Given the description of an element on the screen output the (x, y) to click on. 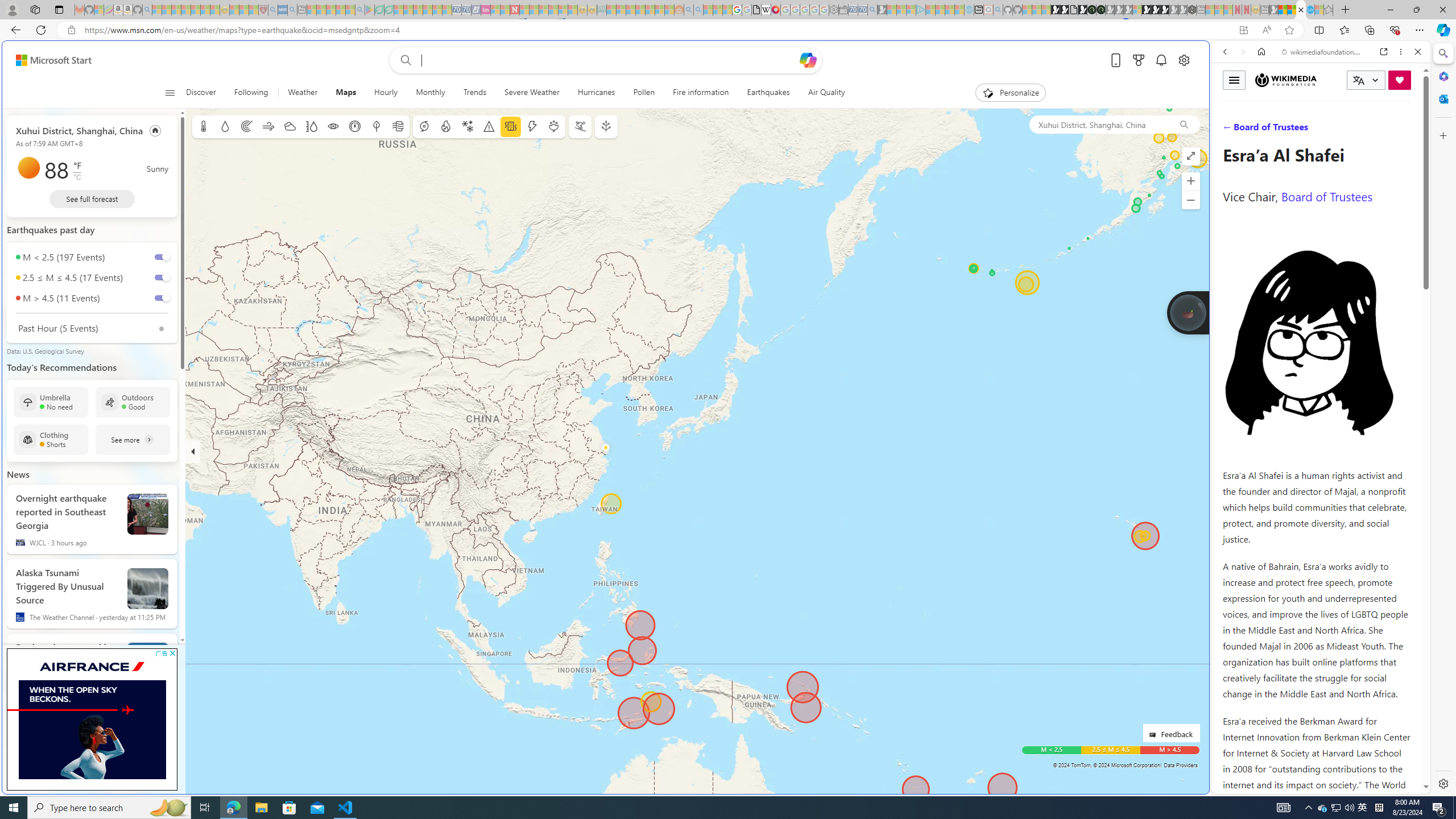
Expert Portfolios - Sleeping (639, 9)
